Given the description of an element on the screen output the (x, y) to click on. 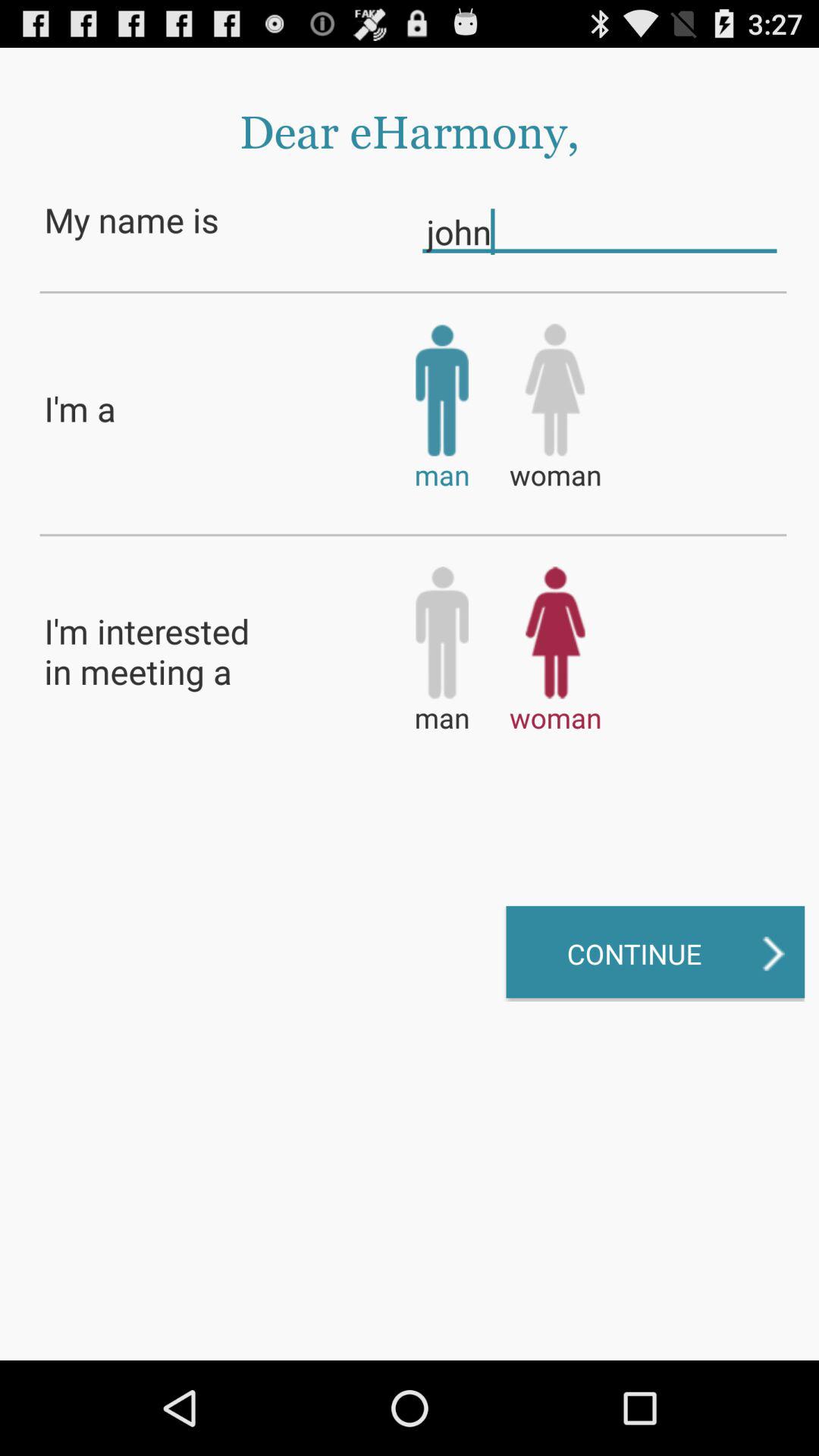
choose the icon below woman (655, 953)
